Given the description of an element on the screen output the (x, y) to click on. 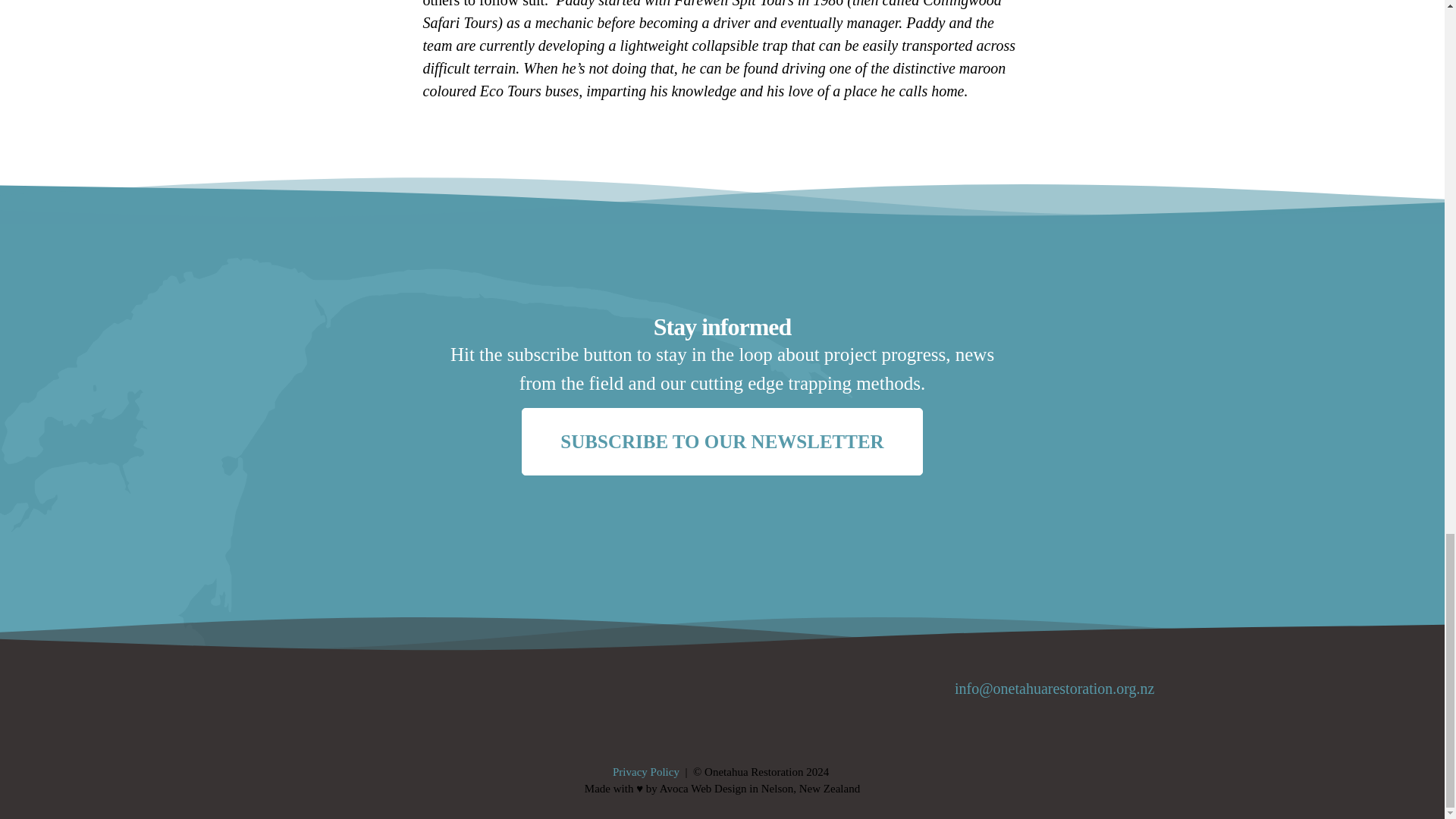
Privacy Policy (645, 771)
SUBSCRIBE TO OUR NEWSLETTER (721, 441)
